Given the description of an element on the screen output the (x, y) to click on. 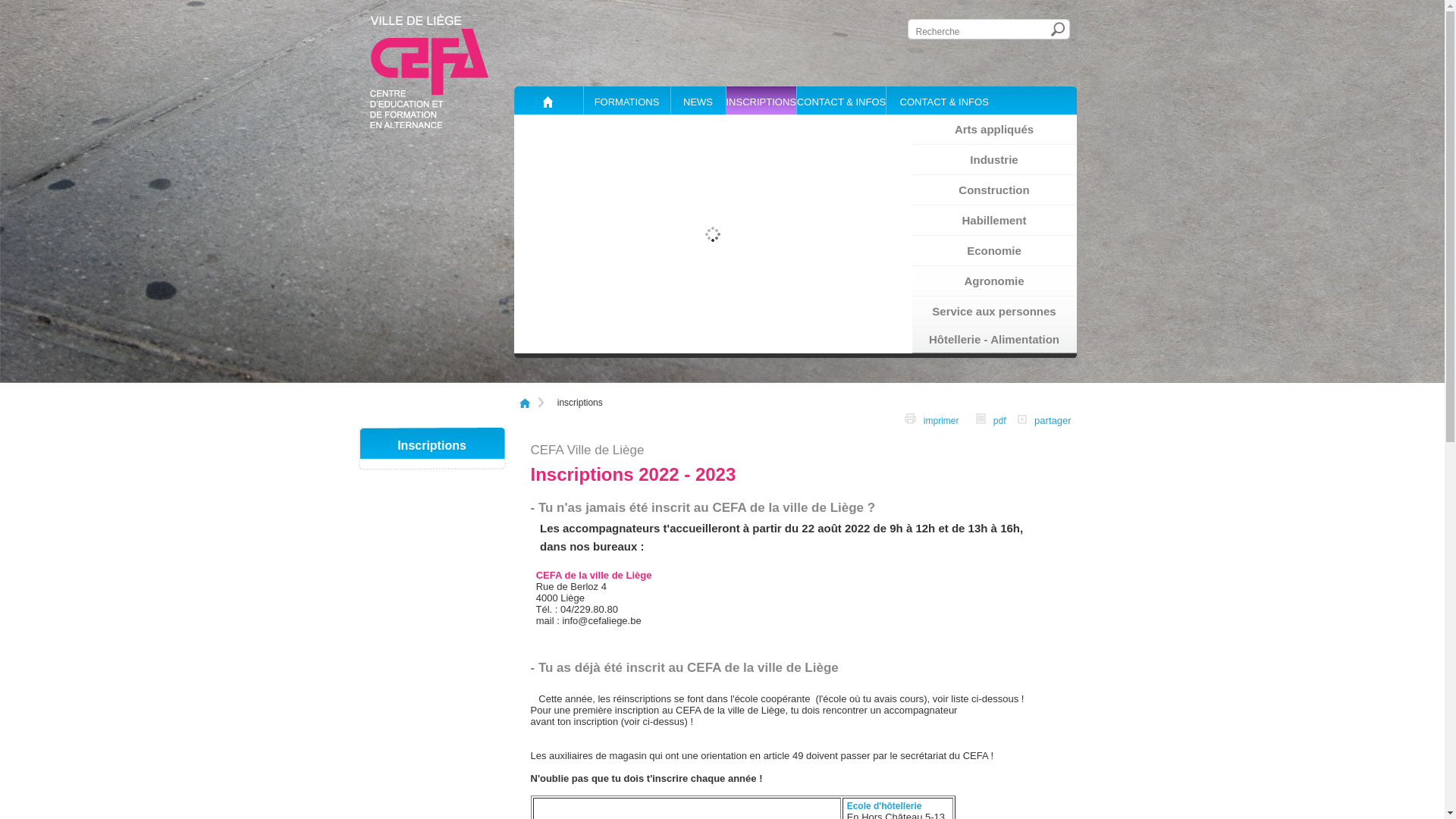
Home Element type: hover (550, 100)
NEWS Element type: text (697, 100)
Service aux personnes Element type: text (993, 311)
imprimer Element type: text (930, 420)
Construction Element type: text (993, 190)
Search Element type: text (1058, 28)
CONTACT & INFOS Element type: text (840, 100)
FORMATIONS Element type: text (625, 100)
CONTACT & INFOS Element type: text (943, 100)
Economie Element type: text (993, 250)
Search Element type: hover (1058, 28)
Agronomie Element type: text (993, 281)
Industrie Element type: text (993, 159)
Habillement Element type: text (993, 220)
INSCRIPTIONS Element type: text (759, 100)
pdf Element type: text (990, 420)
